Given the description of an element on the screen output the (x, y) to click on. 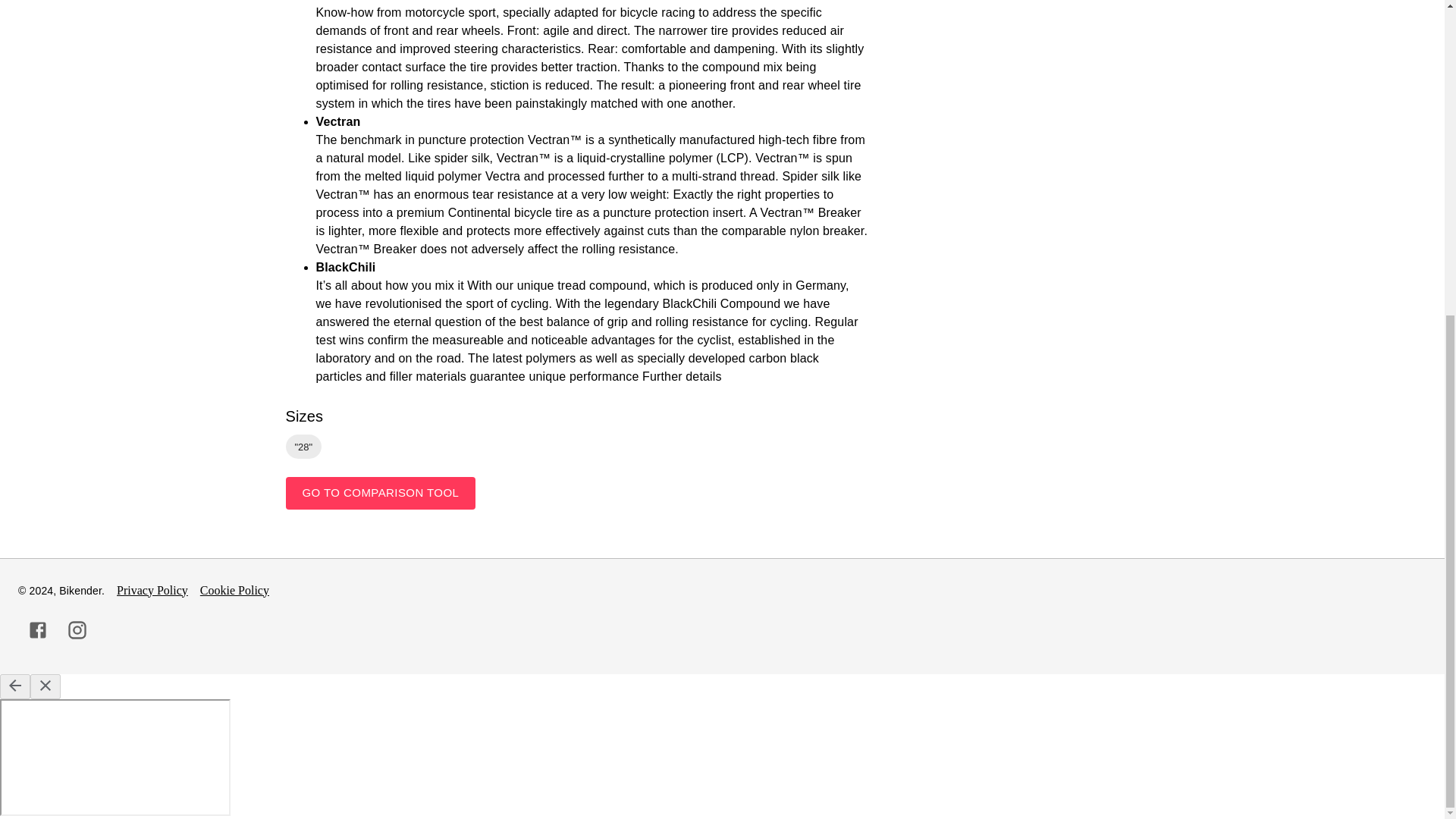
Cookie Policy (234, 590)
GO TO COMPARISON TOOL (380, 492)
Privacy Policy (151, 590)
